Given the description of an element on the screen output the (x, y) to click on. 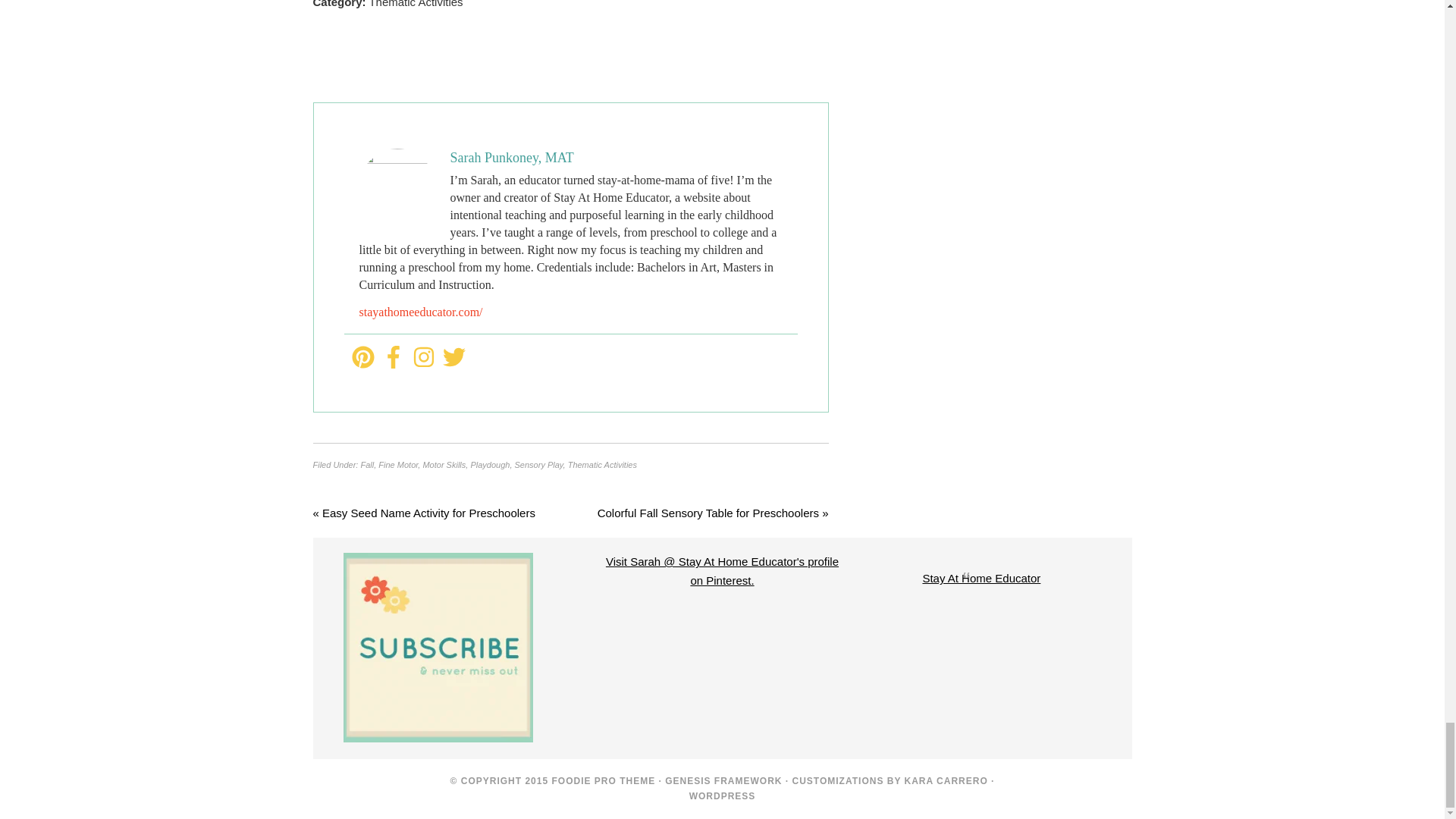
Facebook (392, 357)
Pinterest (363, 357)
Twitter (453, 357)
Instagram (423, 357)
